Given the description of an element on the screen output the (x, y) to click on. 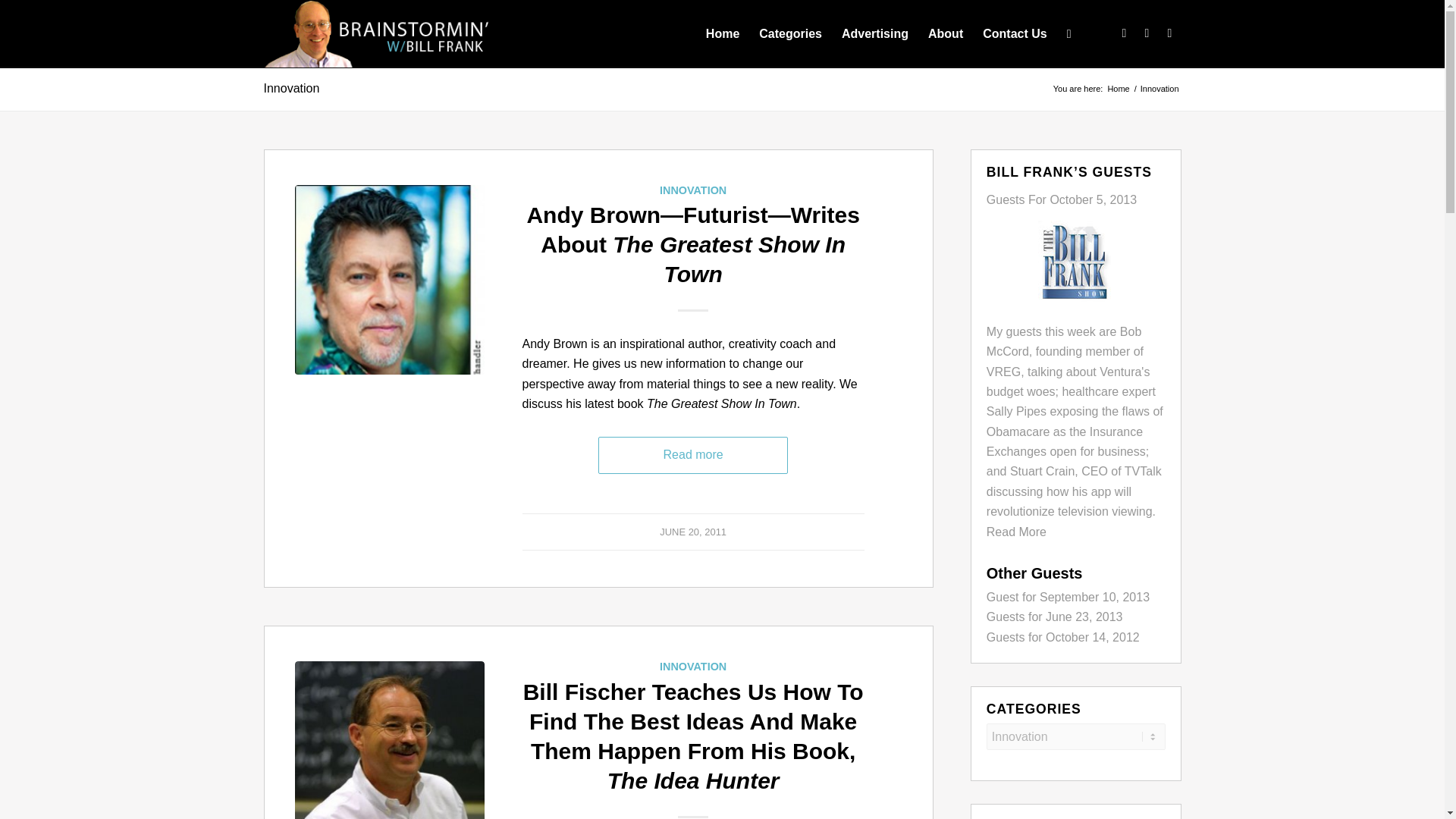
Permanent Link:  Innovation (291, 88)
Bill Fischer, co-author of THE IDEA HUNTER (388, 739)
Twitter (1124, 33)
Advertising (874, 33)
Mail (1169, 33)
Read more (692, 454)
Andrew Brown, author of THE BEST SHOW IN TOWN (388, 279)
INNOVATION (692, 190)
Contact Us (1014, 33)
